Given the description of an element on the screen output the (x, y) to click on. 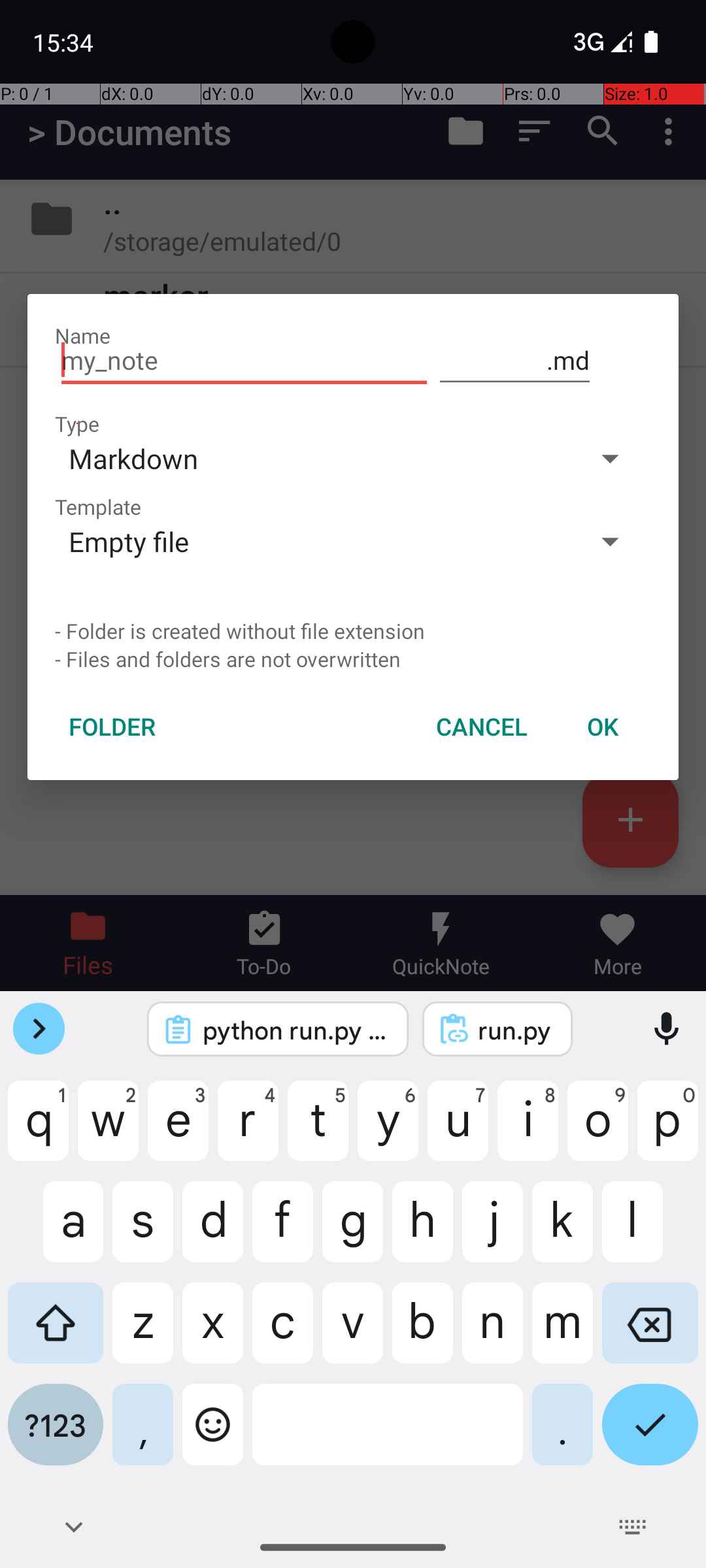
python run.py \   --suite_family=android_world \   --agent_name=t3a_gpt4 \   --perform_emulator_setup \   --tasks=ContactsAddContact,ClockStopWatchRunning \  # Optional: Just run on a subset. Element type: android.widget.TextView (294, 1029)
run.py Element type: android.widget.TextView (514, 1029)
